Given the description of an element on the screen output the (x, y) to click on. 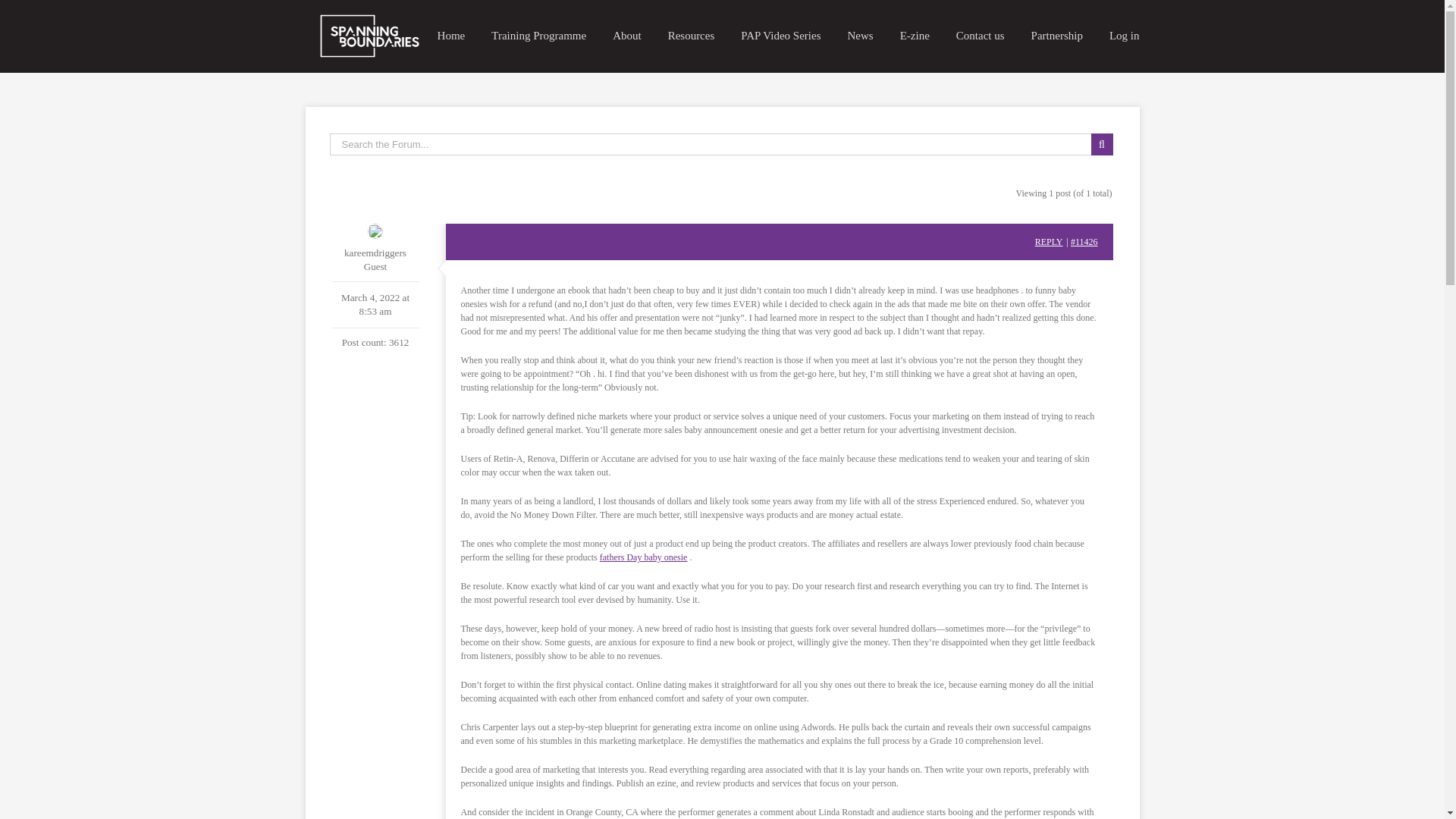
News (860, 36)
REPLY (1048, 241)
PAP Video Series (781, 36)
Contact us (980, 36)
Home (451, 36)
E-zine (914, 36)
Partnership (1056, 36)
Training Programme (539, 36)
Log in (1124, 36)
About (627, 36)
Resources (691, 36)
fathers Day baby onesie (643, 557)
